Given the description of an element on the screen output the (x, y) to click on. 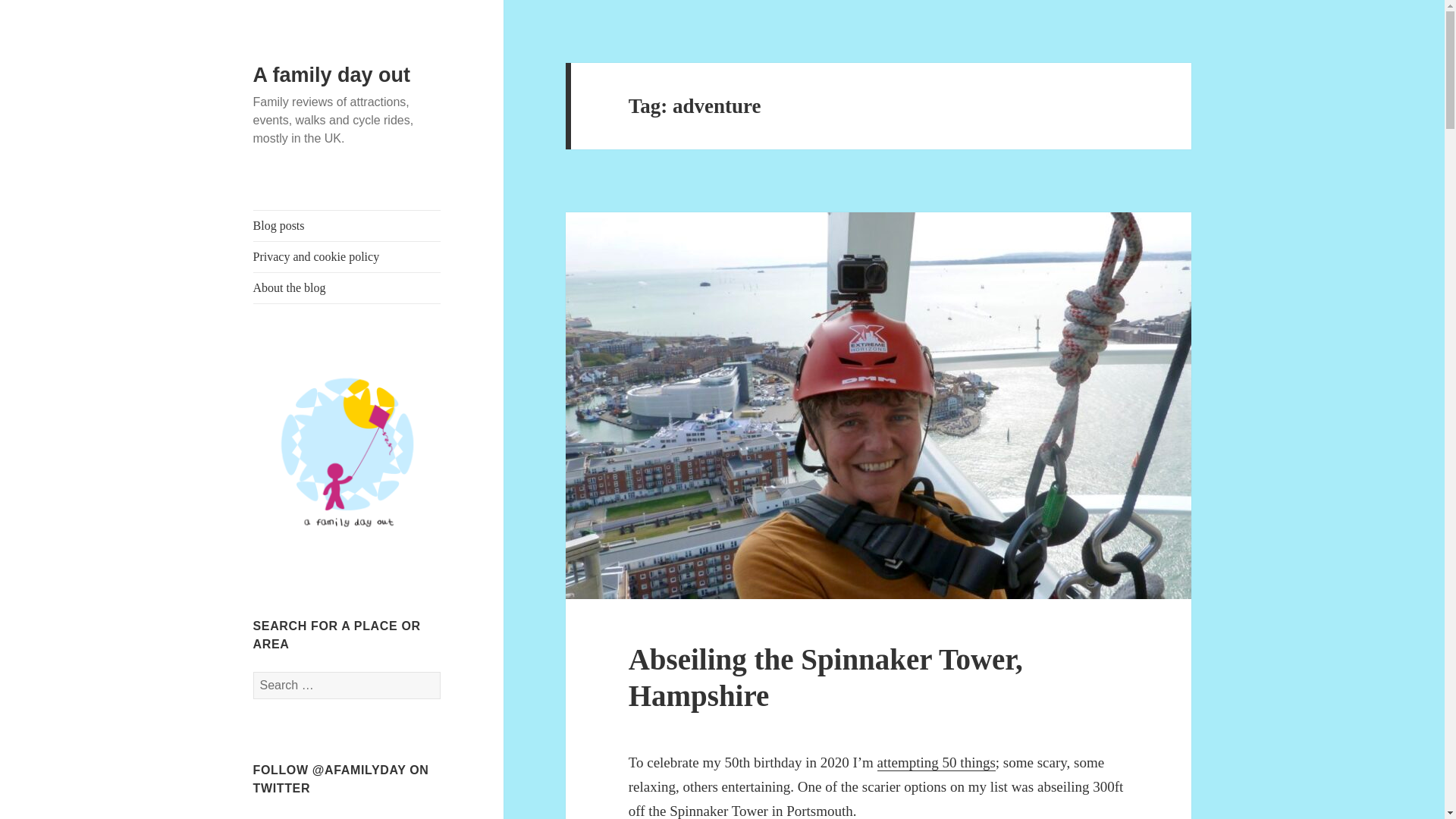
About the blog (347, 287)
A family day out (331, 74)
Privacy and cookie policy (347, 256)
Blog posts (347, 225)
